Given the description of an element on the screen output the (x, y) to click on. 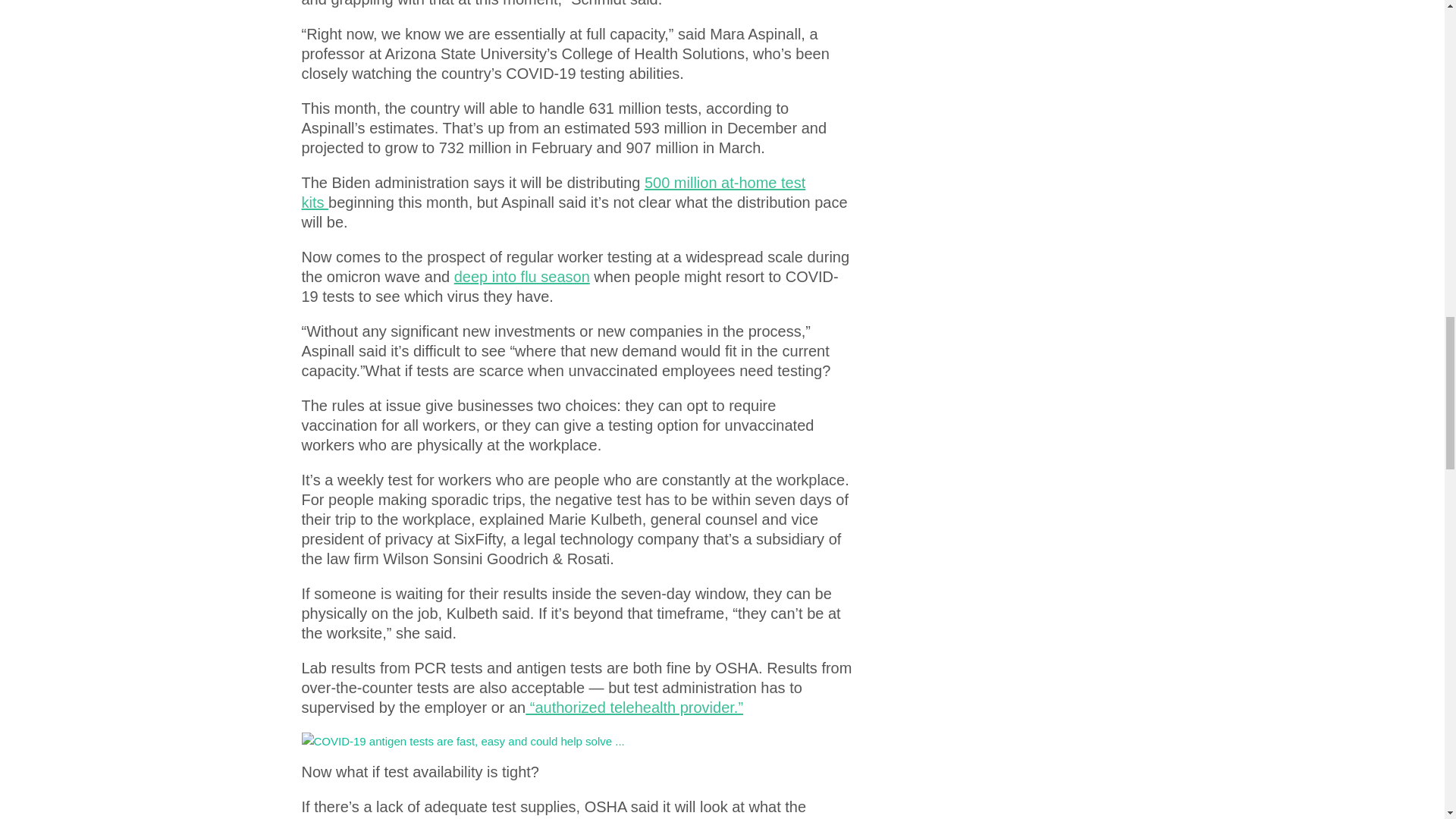
deep into flu season (521, 276)
500 million at-home test kits  (553, 192)
